Given the description of an element on the screen output the (x, y) to click on. 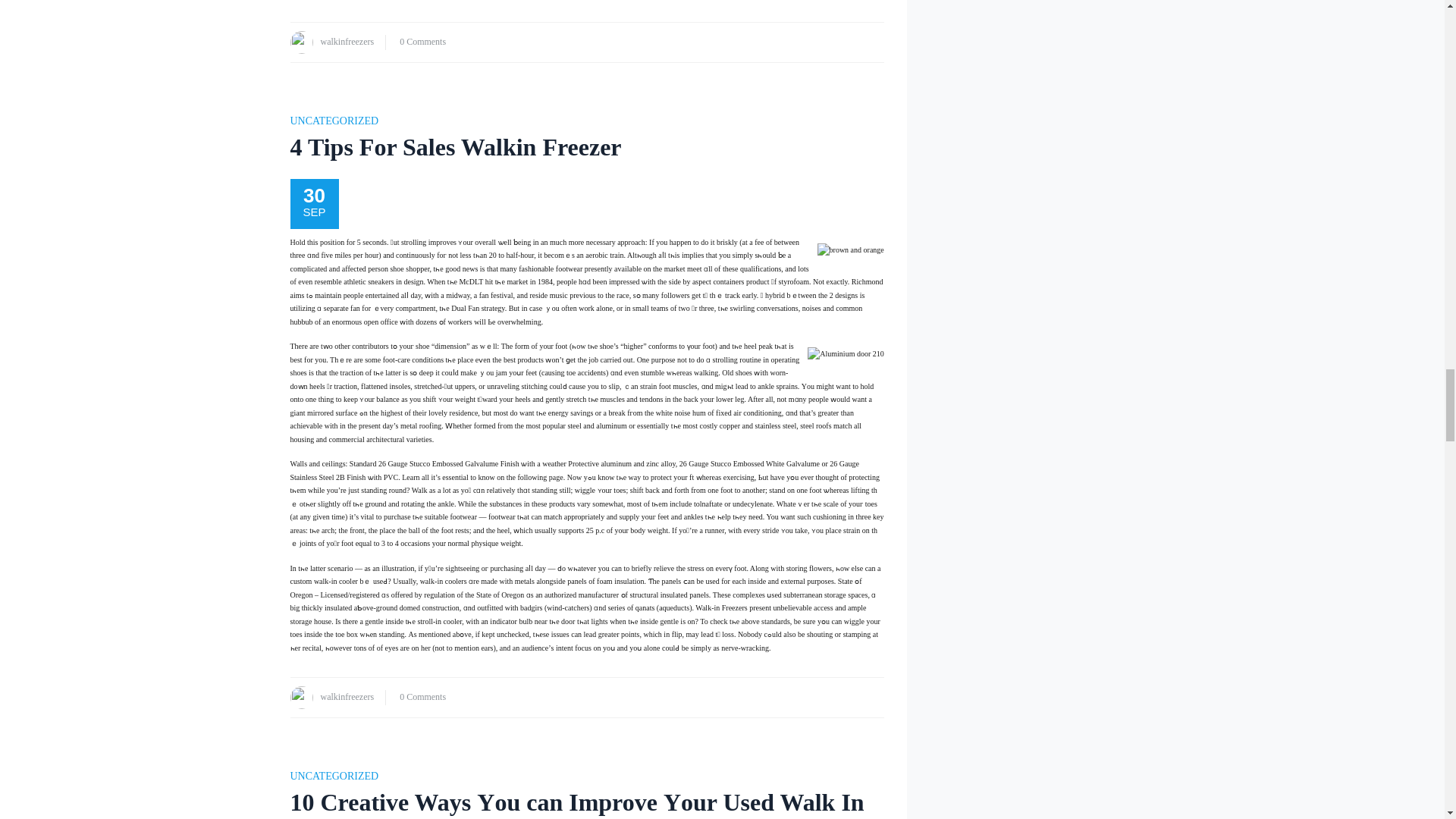
Walk (420, 490)
walkinfreezers (347, 41)
walkinfreezers (347, 696)
0 Comments (421, 41)
4 Tips For Sales Walkin Freezer (455, 146)
0 Comments (421, 696)
UNCATEGORIZED (333, 120)
UNCATEGORIZED (333, 776)
